Given the description of an element on the screen output the (x, y) to click on. 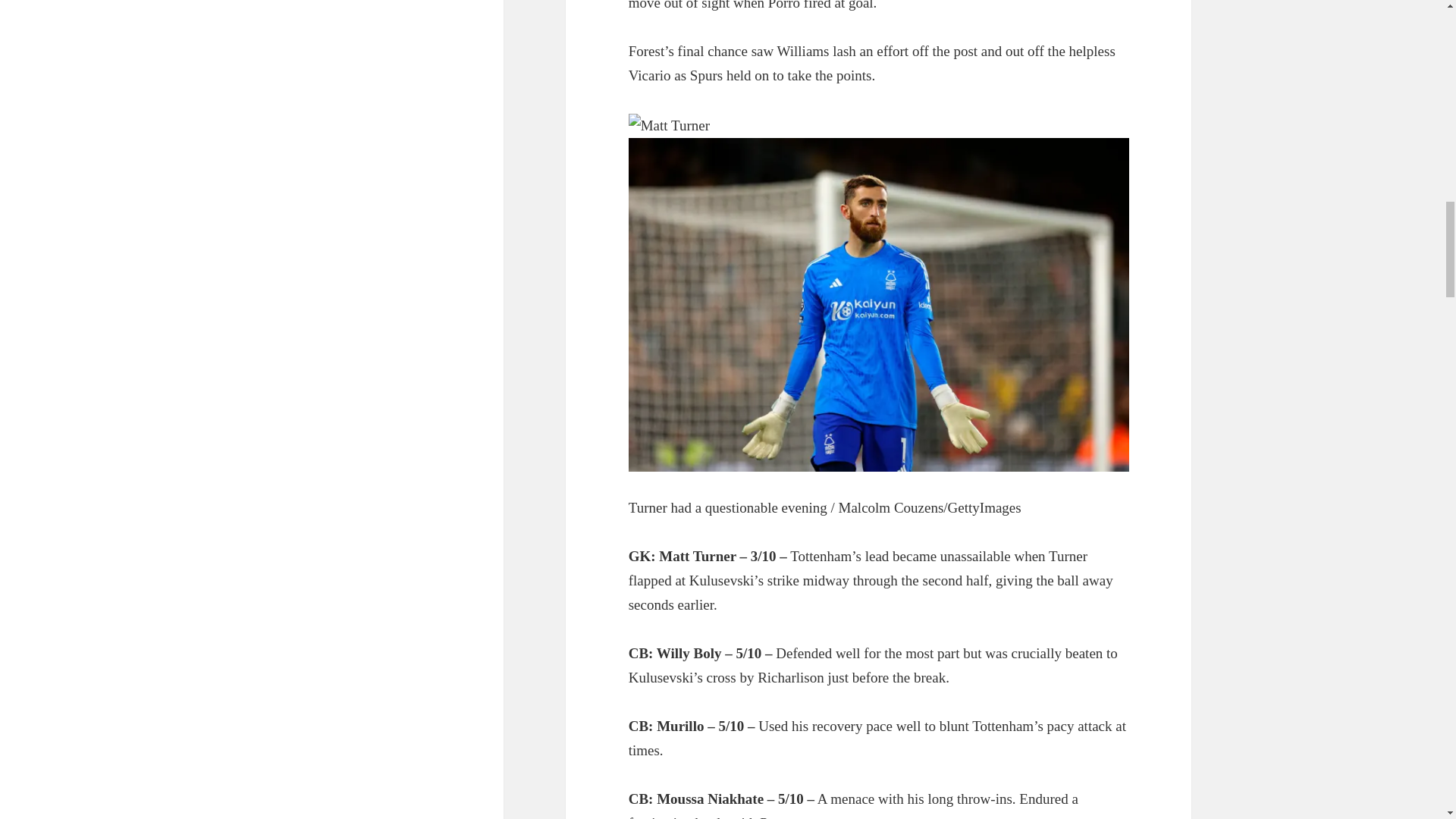
Matt Turner (669, 125)
